Given the description of an element on the screen output the (x, y) to click on. 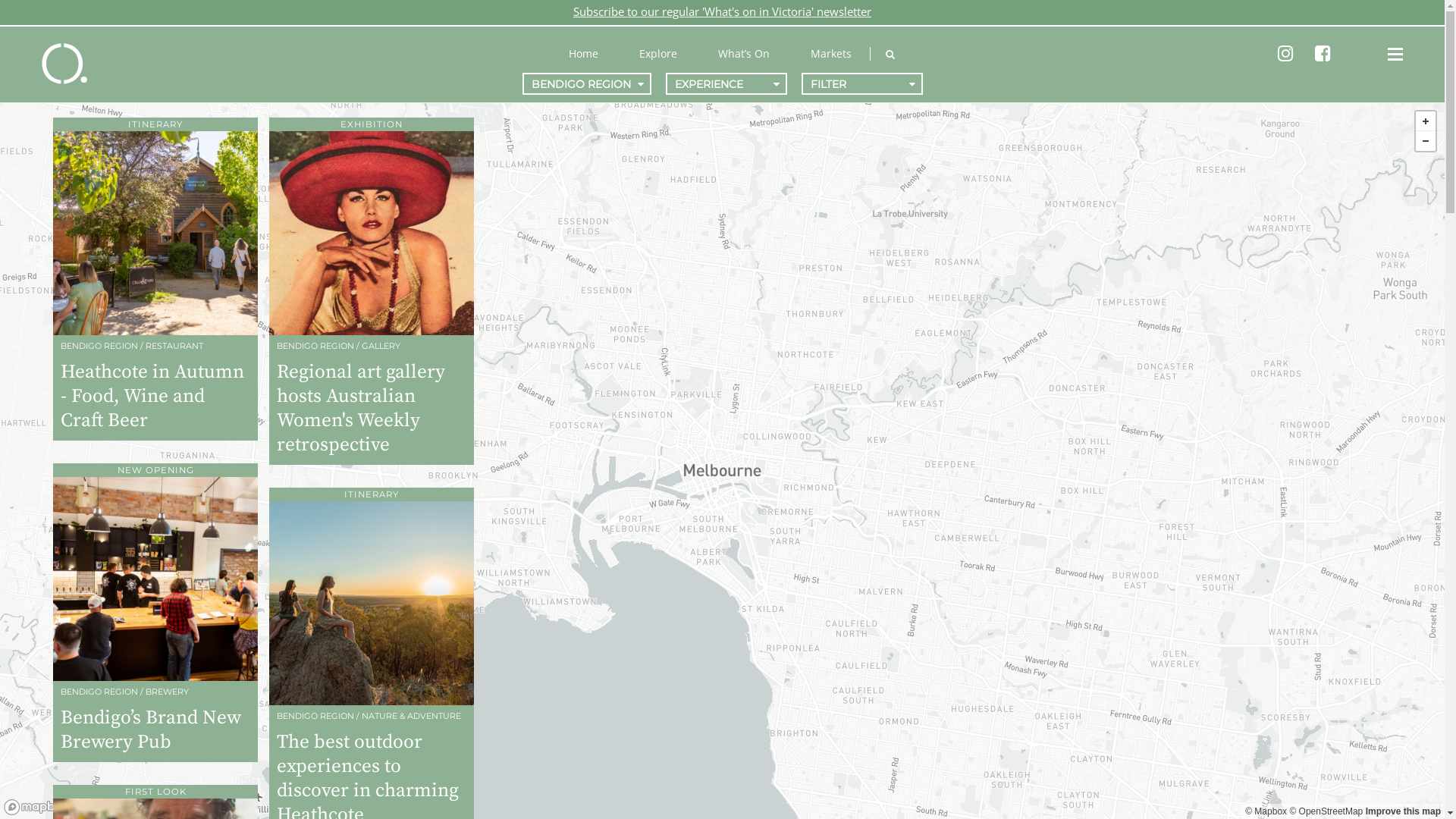
Subscribe to our regular 'What's on in Victoria' newsletter Element type: text (722, 11)
Markets Element type: text (830, 53)
Explore Element type: text (658, 53)
Home Element type: text (583, 53)
Improve this map Element type: text (1402, 811)
+ Element type: text (1425, 121)
